Given the description of an element on the screen output the (x, y) to click on. 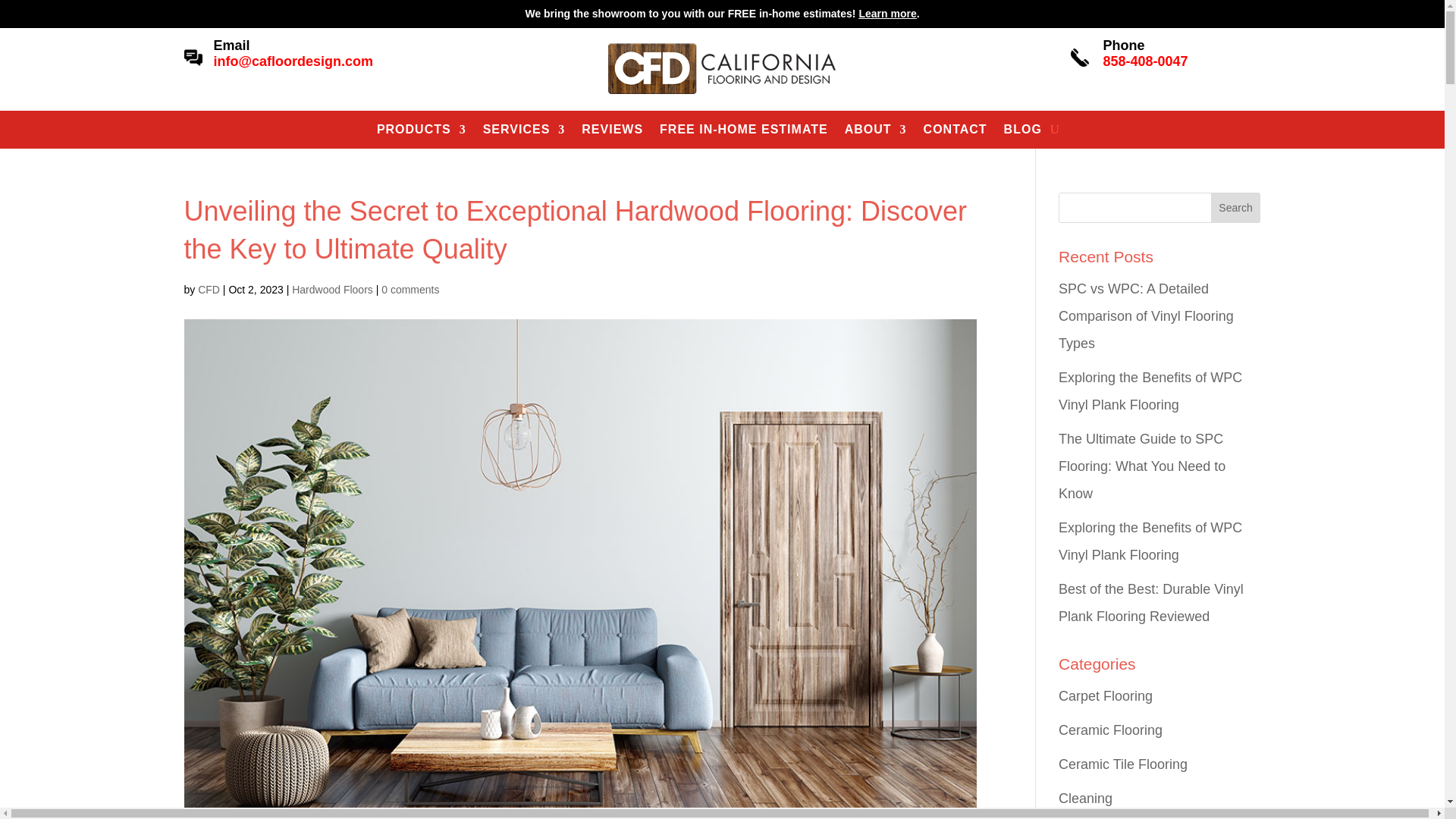
Learn more (887, 13)
Search (1235, 207)
BLOG (1023, 132)
FREE IN-HOME ESTIMATE (743, 132)
858-408-0047 (1145, 61)
ABOUT (875, 132)
PRODUCTS (421, 132)
Posts by CFD (208, 289)
CONTACT (955, 132)
SERVICES (524, 132)
REVIEWS (611, 132)
